Given the description of an element on the screen output the (x, y) to click on. 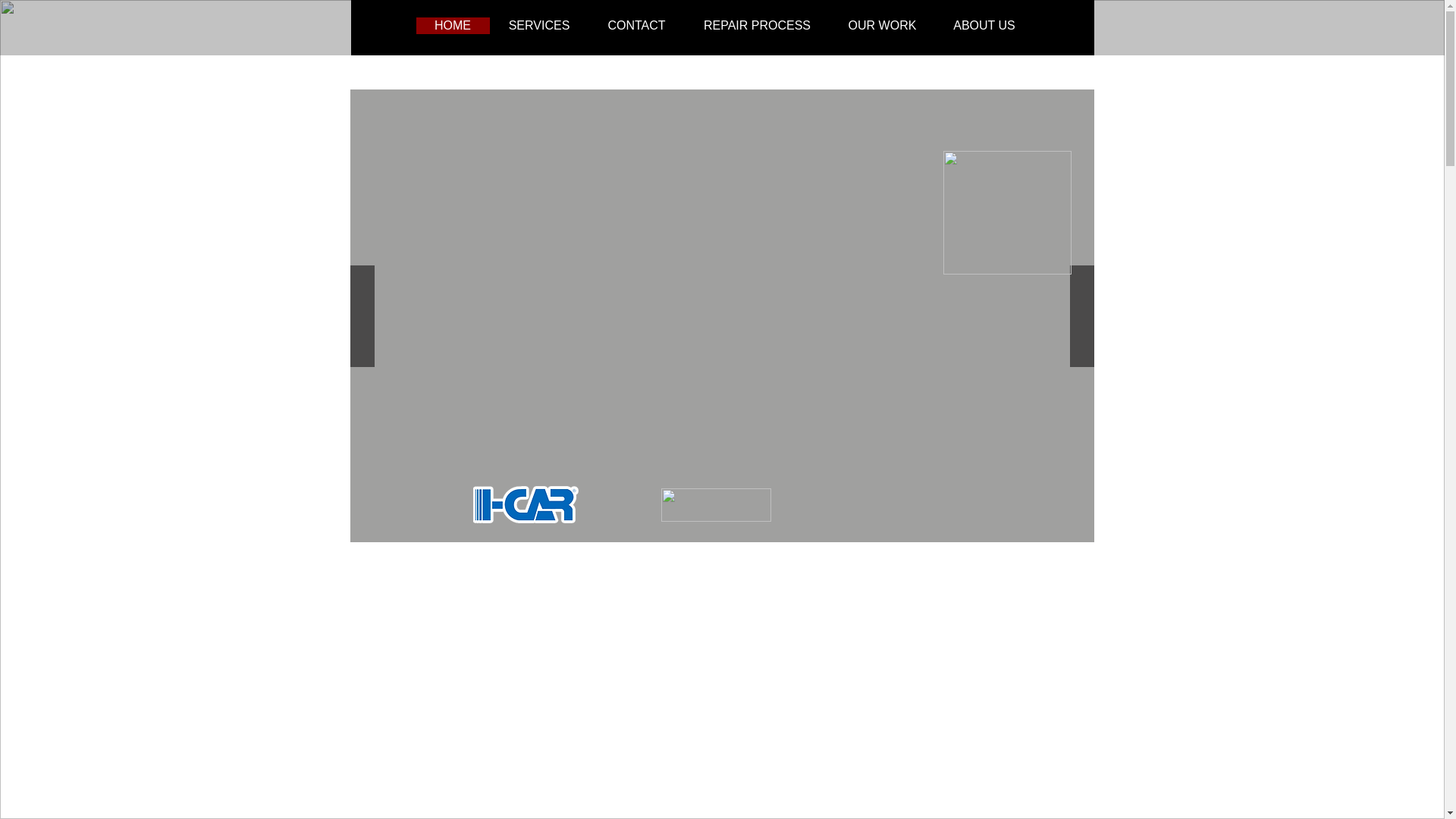
CONTACT (636, 25)
HOME (451, 25)
OUR WORK (881, 25)
ABOUT US (983, 25)
SERVICES (539, 25)
REPAIR PROCESS (756, 25)
